Given the description of an element on the screen output the (x, y) to click on. 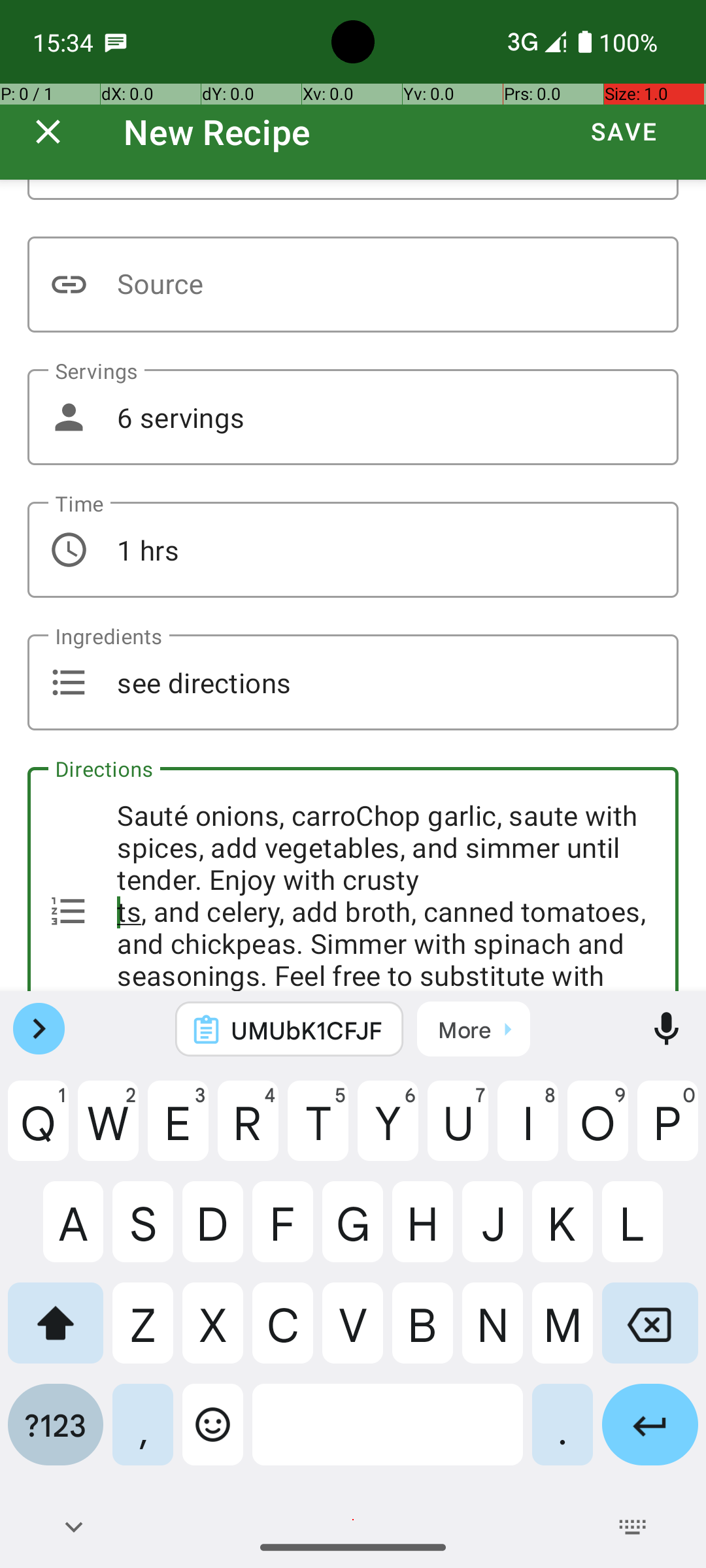
Source Element type: android.widget.EditText (352, 284)
6 servings Element type: android.widget.EditText (352, 417)
1 hrs Element type: android.widget.EditText (352, 549)
see directions Element type: android.widget.EditText (352, 682)
Sauté onions, carroChop garlic, saute with spices, add vegetables, and simmer until tender. Enjoy with crusty
ts, and celery, add broth, canned tomatoes, and chickpeas. Simmer with spinach and seasonings. Feel free to substitute with ingredients you have on hand. Element type: android.widget.EditText (352, 879)
